Given the description of an element on the screen output the (x, y) to click on. 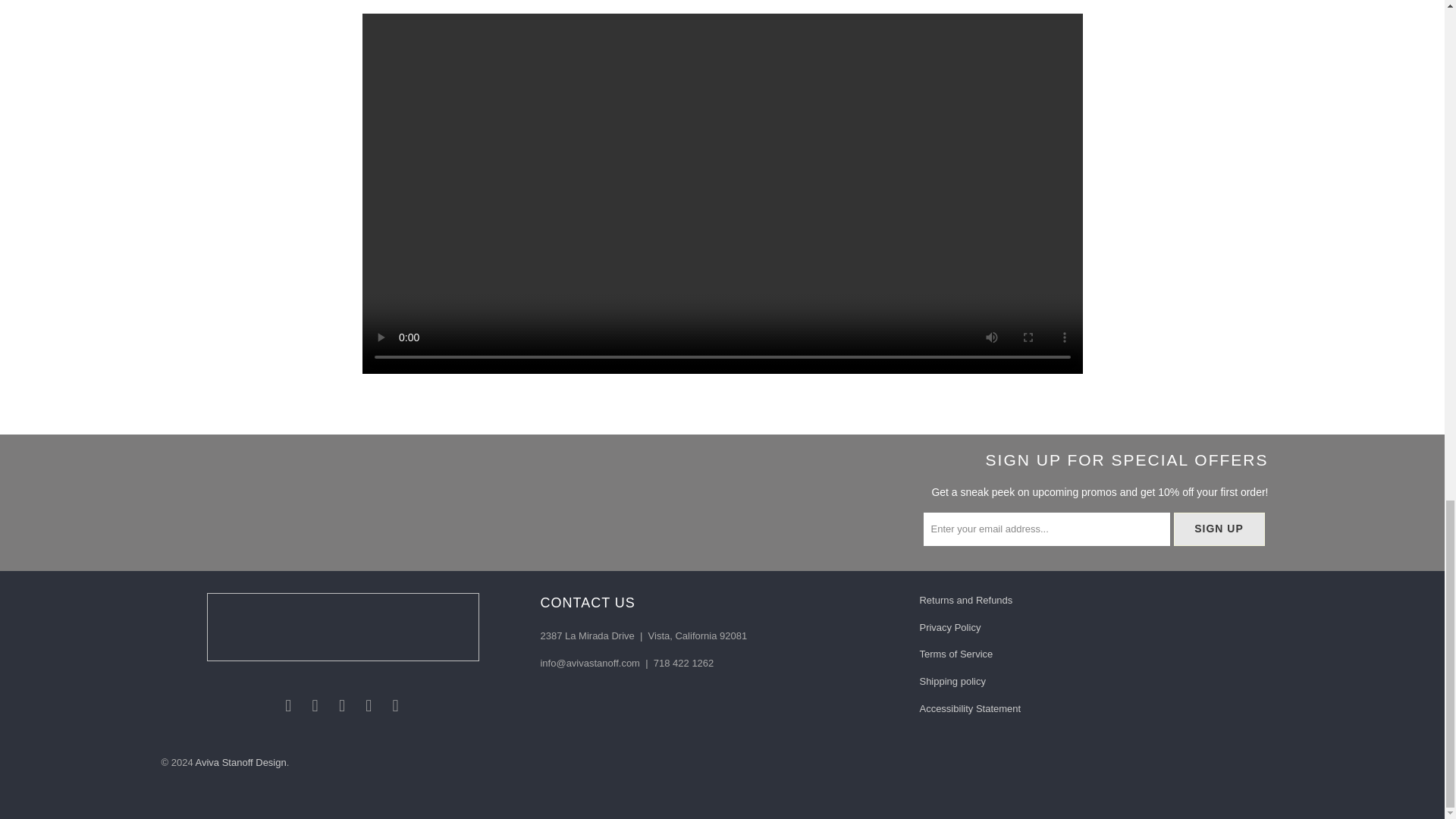
Sign Up (1219, 529)
Terms of service (955, 654)
Aviva Stanoff Design on Facebook (288, 705)
Privacy policy (948, 627)
Aviva Stanoff Design on Pinterest (342, 705)
Shipping policy (951, 681)
Aviva Stanoff Design on LinkedIn (395, 705)
Return and Refunds (964, 600)
Aviva Stanoff Design on Instagram (369, 705)
Aviva Stanoff Design on YouTube (315, 705)
